Given the description of an element on the screen output the (x, y) to click on. 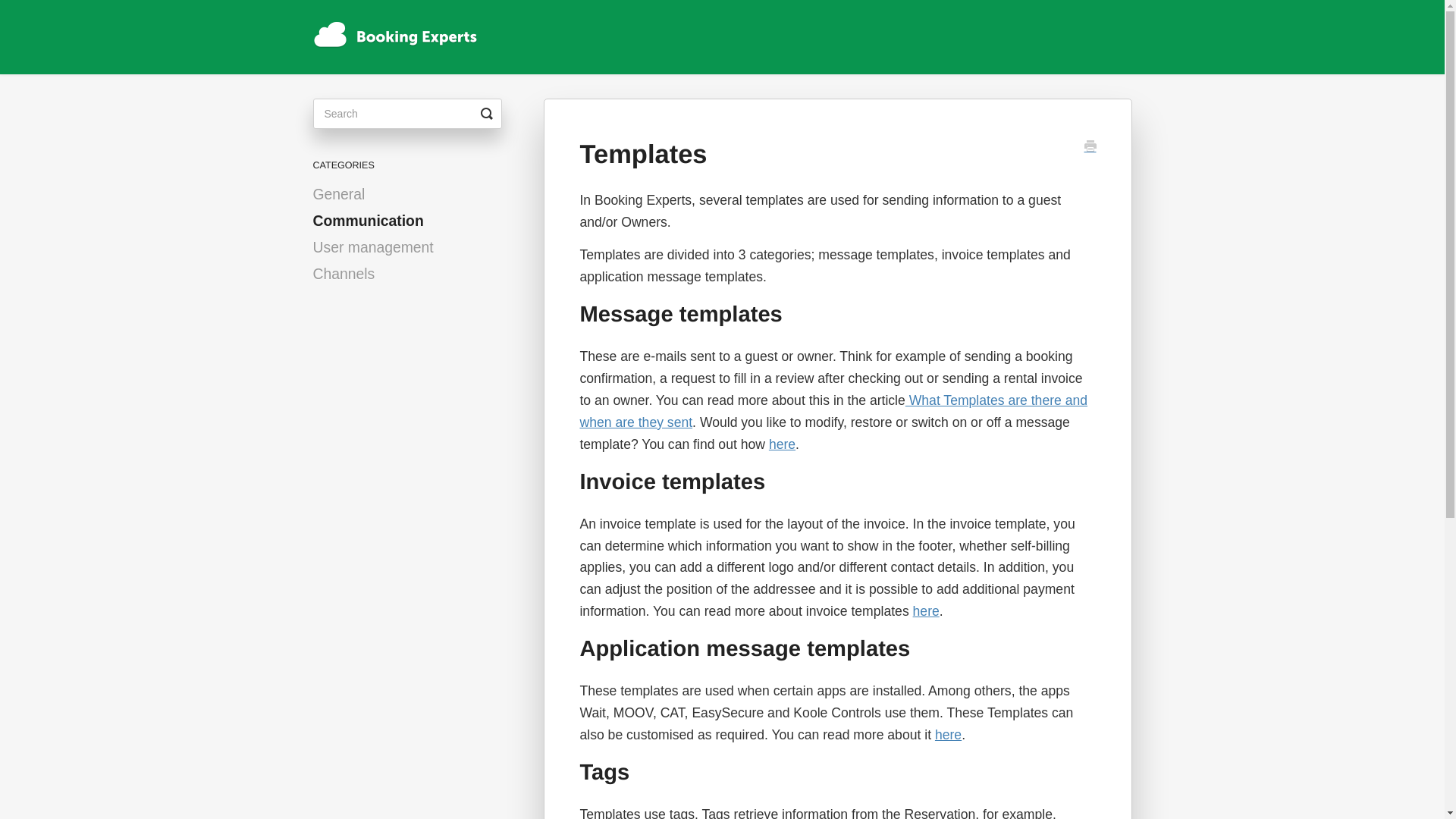
What Templates are there and when are they sent (833, 411)
Communication (373, 220)
User management (378, 247)
Print this article (1090, 147)
here (781, 444)
Toggle Search (486, 113)
General (344, 193)
here (947, 734)
here (925, 611)
search-query (406, 113)
Channels (349, 273)
